Given the description of an element on the screen output the (x, y) to click on. 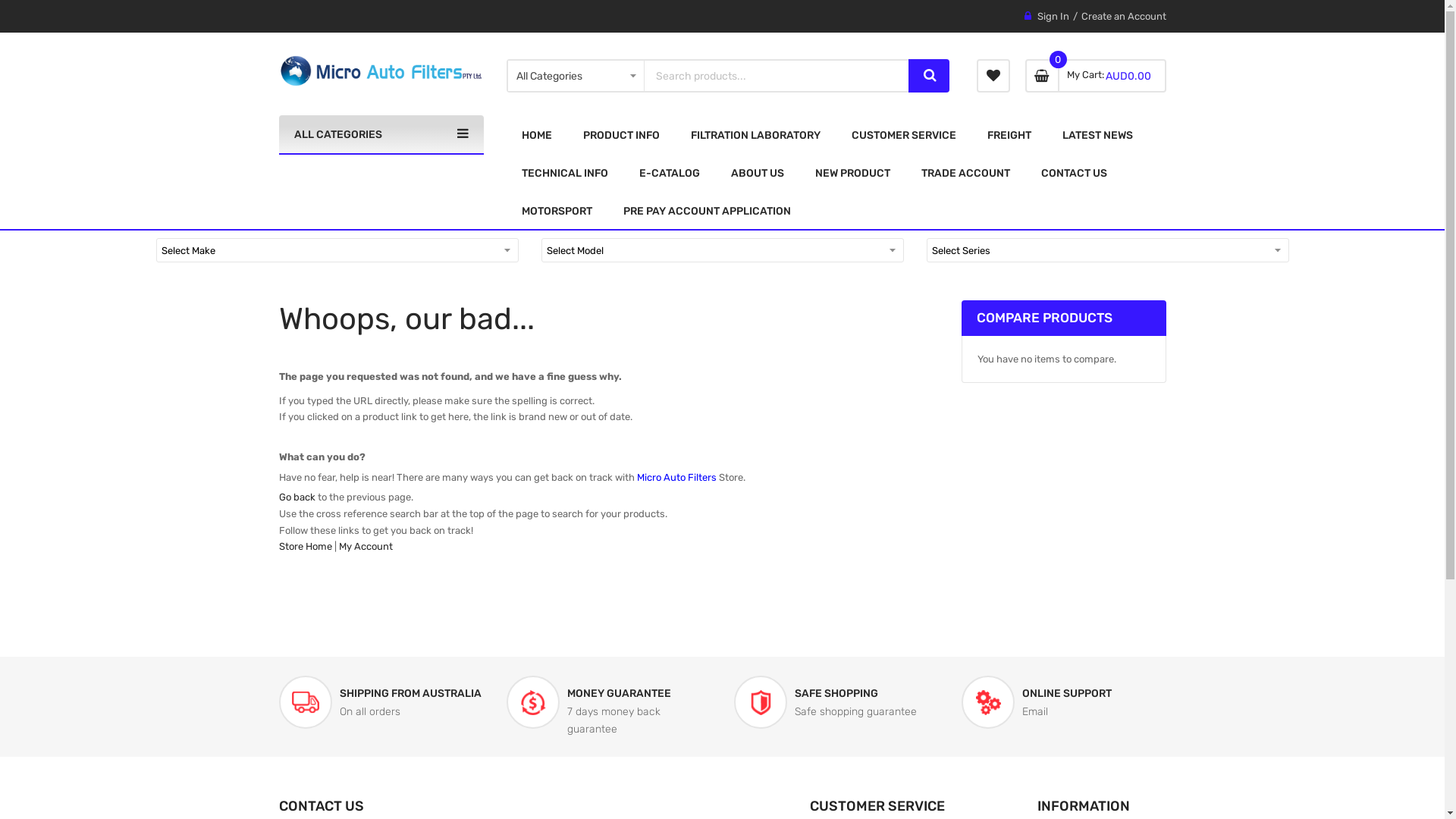
Search Element type: hover (928, 75)
My Cart
0
AUD0.00 Element type: text (1095, 75)
MOTORSPORT Element type: text (556, 210)
Create an Account Element type: text (1123, 16)
CONTACT US Element type: text (1073, 172)
PRODUCT INFO Element type: text (620, 134)
My Account Element type: text (365, 546)
NEW PRODUCT Element type: text (851, 172)
E-CATALOG Element type: text (668, 172)
ABOUT US Element type: text (757, 172)
FILTRATION LABORATORY Element type: text (754, 134)
FREIGHT Element type: text (1009, 134)
TRADE ACCOUNT Element type: text (964, 172)
Micro Auto Filters Element type: hover (381, 70)
Sign In Element type: text (1053, 16)
LATEST NEWS Element type: text (1096, 134)
Go back Element type: text (297, 496)
Store Home Element type: text (305, 546)
HOME Element type: text (536, 134)
PRE PAY ACCOUNT APPLICATION Element type: text (707, 210)
CUSTOMER SERVICE Element type: text (902, 134)
TECHNICAL INFO Element type: text (564, 172)
My Wishlist Element type: hover (993, 75)
